Given the description of an element on the screen output the (x, y) to click on. 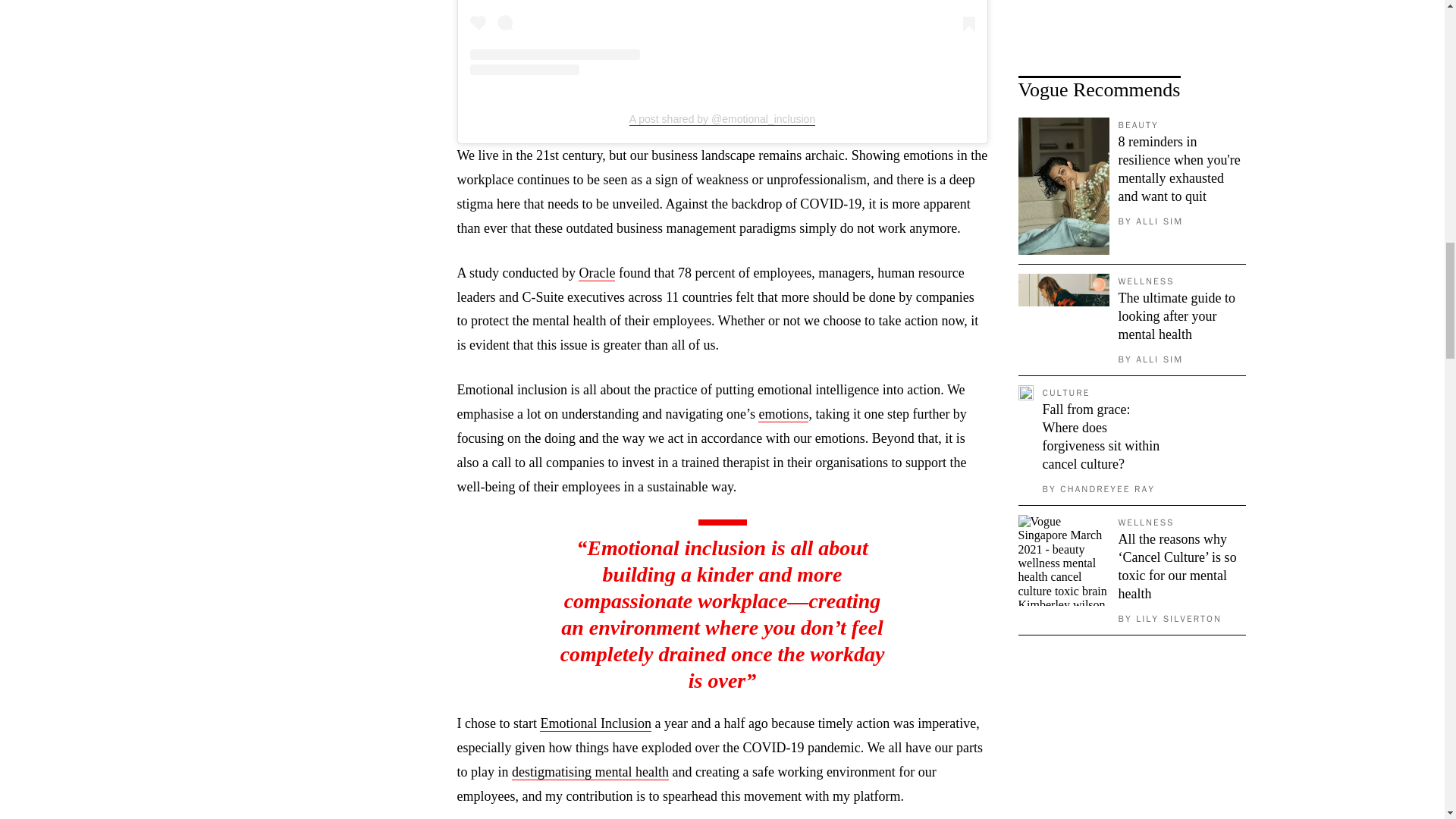
destigmatising mental health (590, 772)
emotions (783, 414)
View this post on Instagram (722, 37)
Oracle (596, 273)
Emotional Inclusion (595, 723)
